Given the description of an element on the screen output the (x, y) to click on. 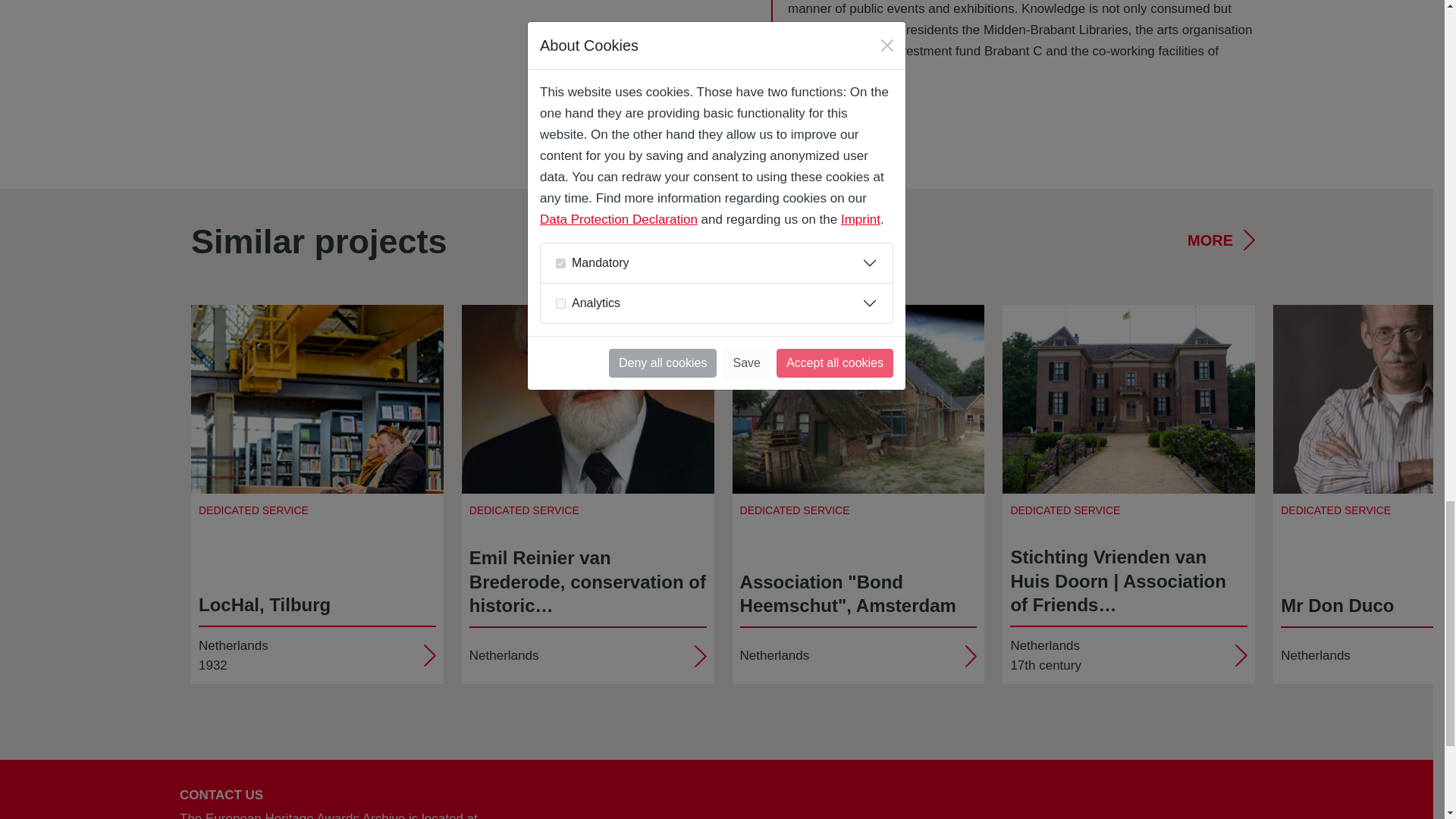
MORE (1221, 240)
2010-Drenthe scale and threat (858, 398)
